Given the description of an element on the screen output the (x, y) to click on. 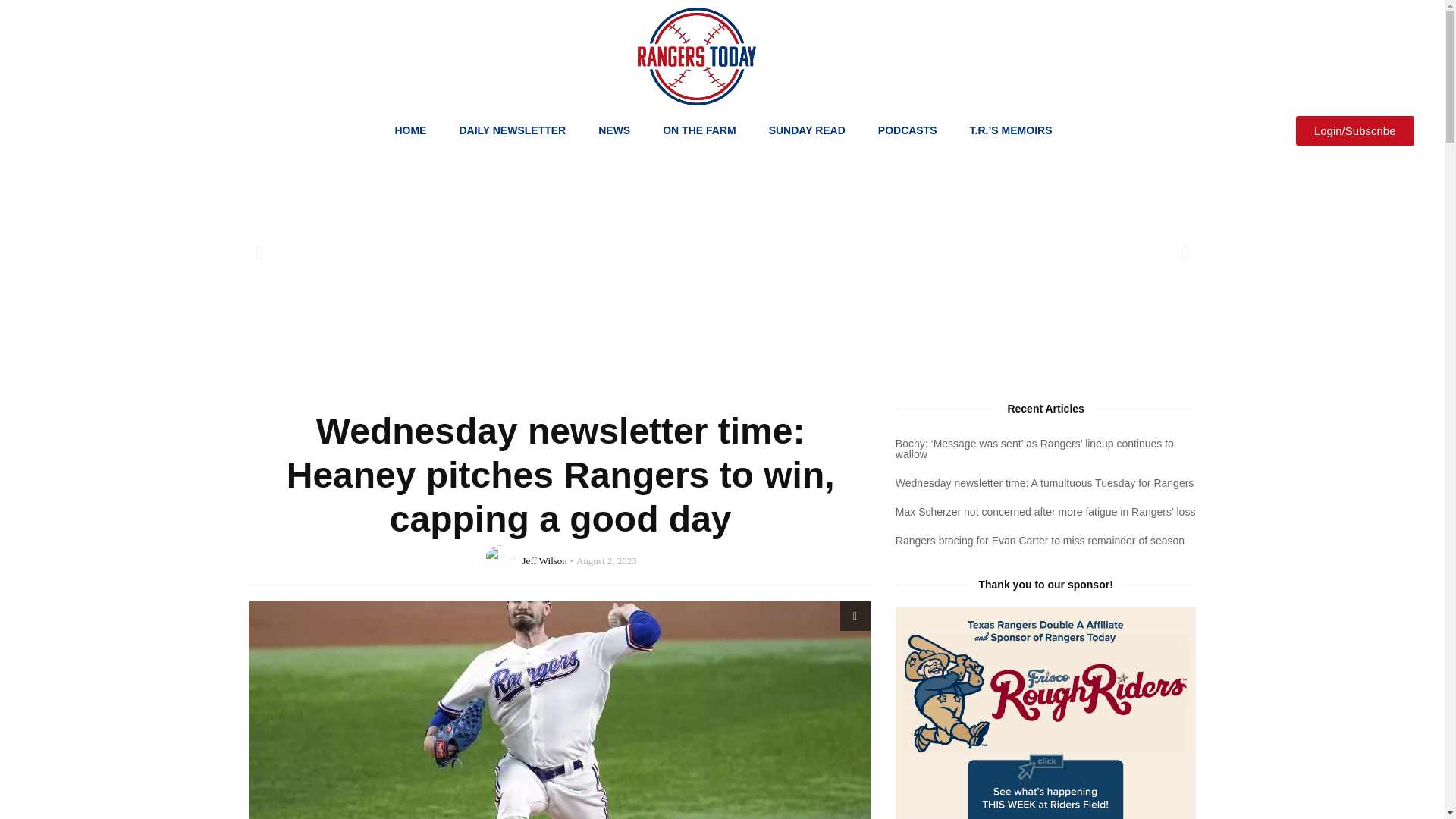
Jeff Wilson (544, 560)
NEWS (614, 130)
From Triumph Books and Rangers Today (1045, 712)
SUNDAY READ (807, 130)
ON THE FARM (699, 130)
HOME (409, 130)
PODCASTS (907, 130)
DAILY NEWSLETTER (512, 130)
